Given the description of an element on the screen output the (x, y) to click on. 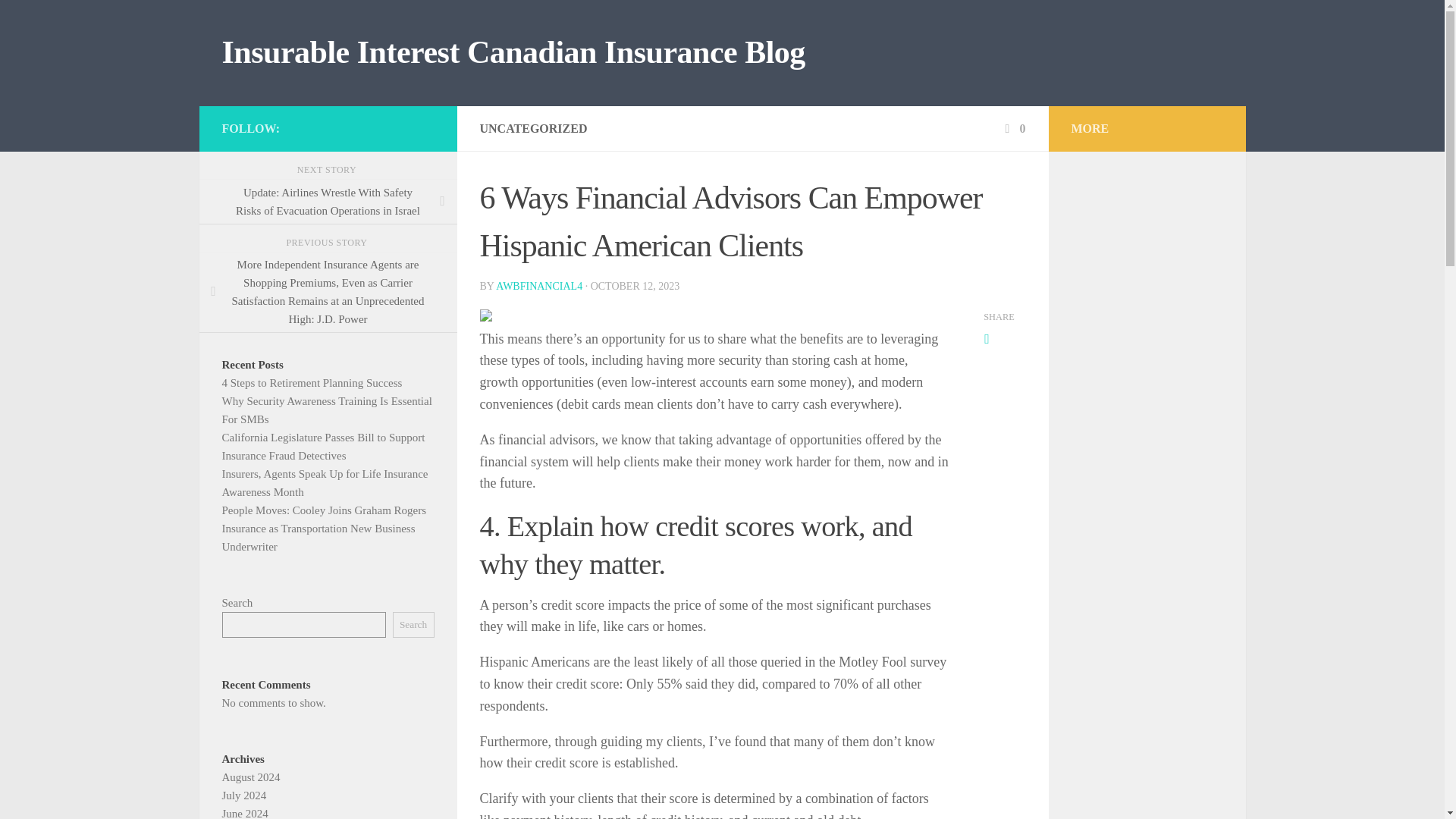
June 2024 (244, 813)
0 (1013, 128)
4 Steps to Retirement Planning Success (311, 382)
August 2024 (250, 776)
Insurers, Agents Speak Up for Life Insurance Awareness Month (324, 482)
Posts by awbfinancial4 (539, 285)
Search (413, 624)
July 2024 (243, 795)
AWBFINANCIAL4 (539, 285)
